Given the description of an element on the screen output the (x, y) to click on. 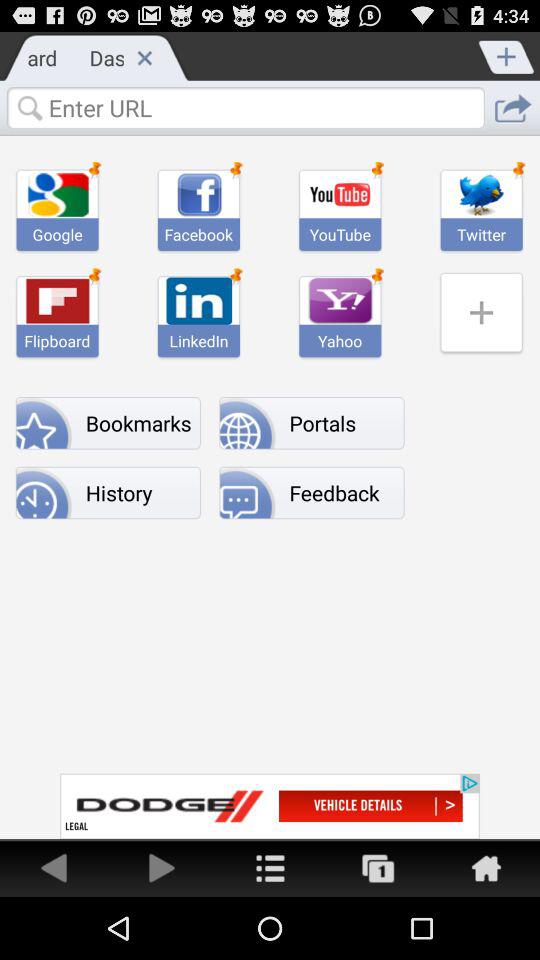
go to previous (162, 867)
